Given the description of an element on the screen output the (x, y) to click on. 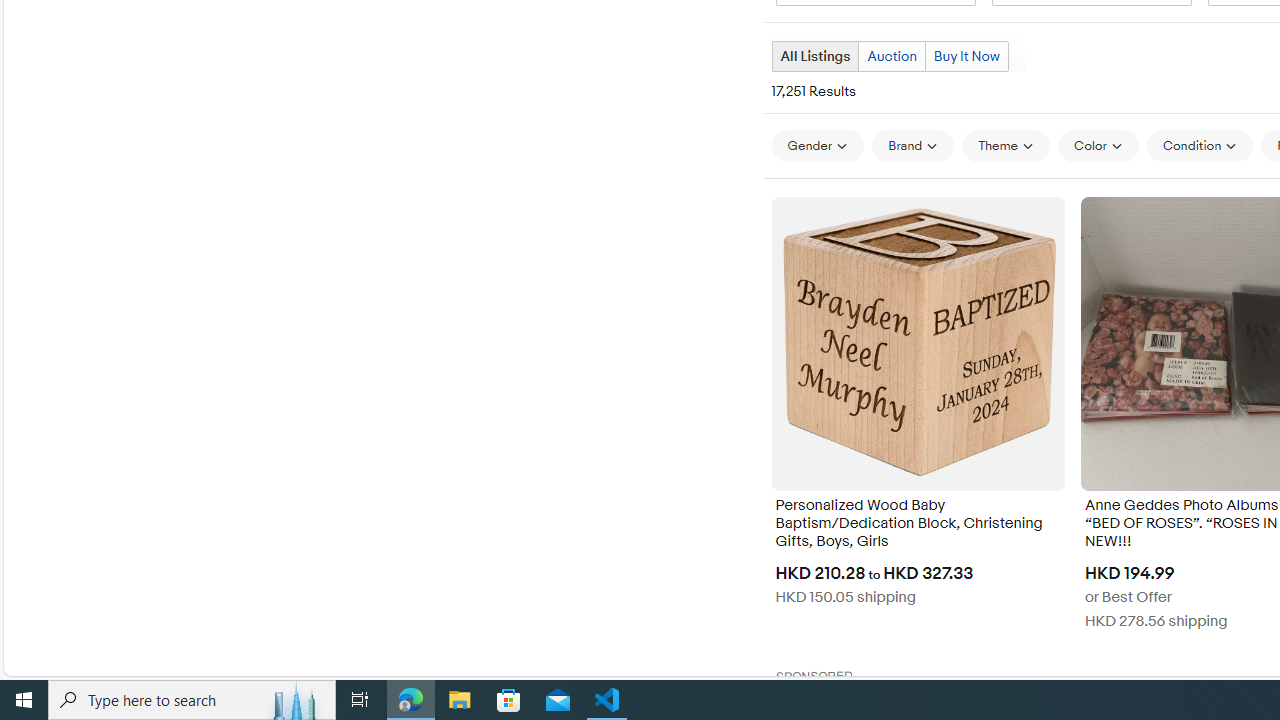
Brand (912, 146)
Buy It Now (966, 56)
Auction (891, 56)
